Given the description of an element on the screen output the (x, y) to click on. 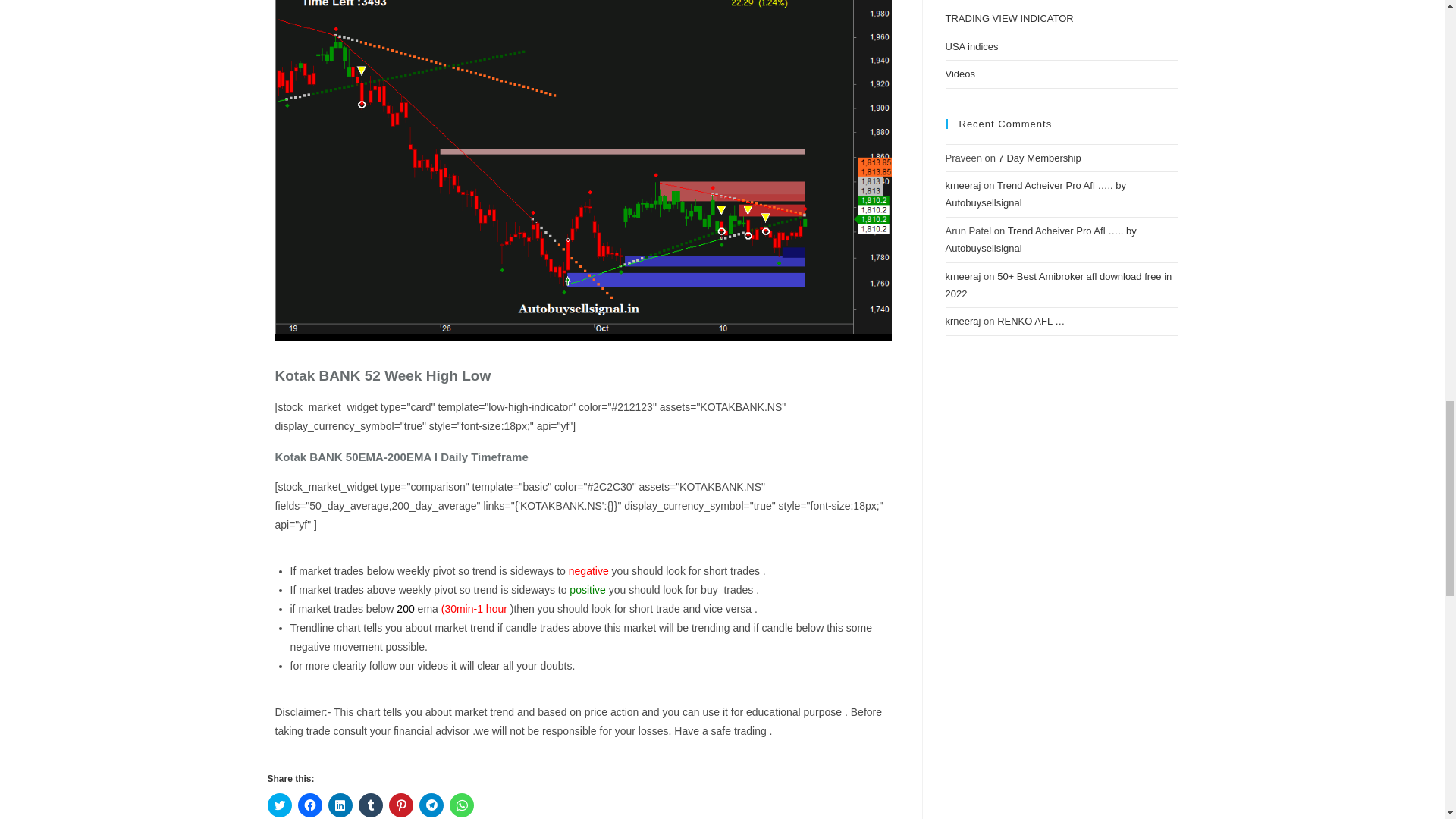
Click to share on LinkedIn (339, 805)
Click to share on Pinterest (400, 805)
Click to share on Twitter (278, 805)
Click to share on Facebook (309, 805)
Click to share on WhatsApp (460, 805)
Click to share on Tumblr (369, 805)
Click to share on Telegram (430, 805)
